Given the description of an element on the screen output the (x, y) to click on. 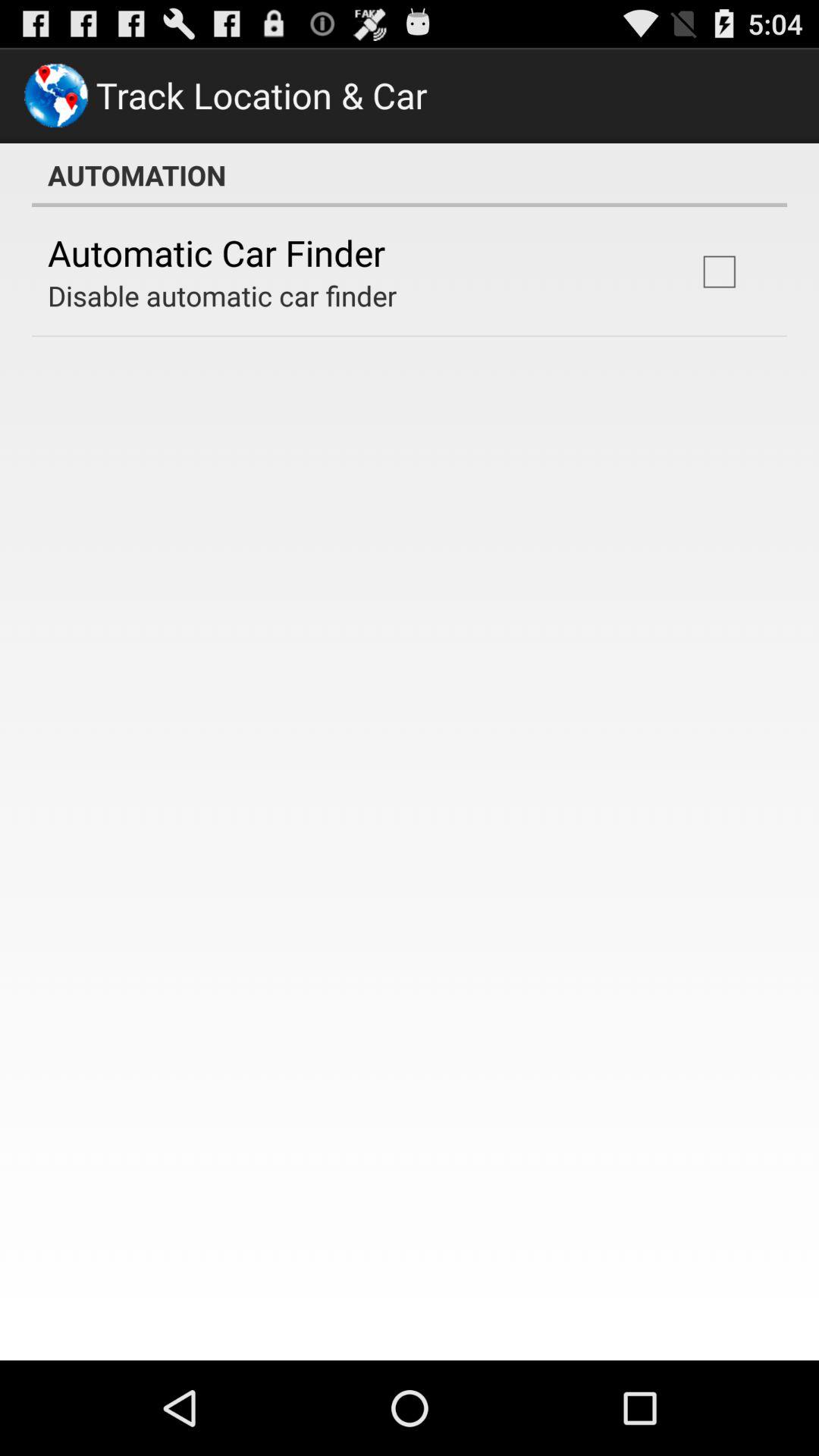
press the item above the automatic car finder item (409, 175)
